Given the description of an element on the screen output the (x, y) to click on. 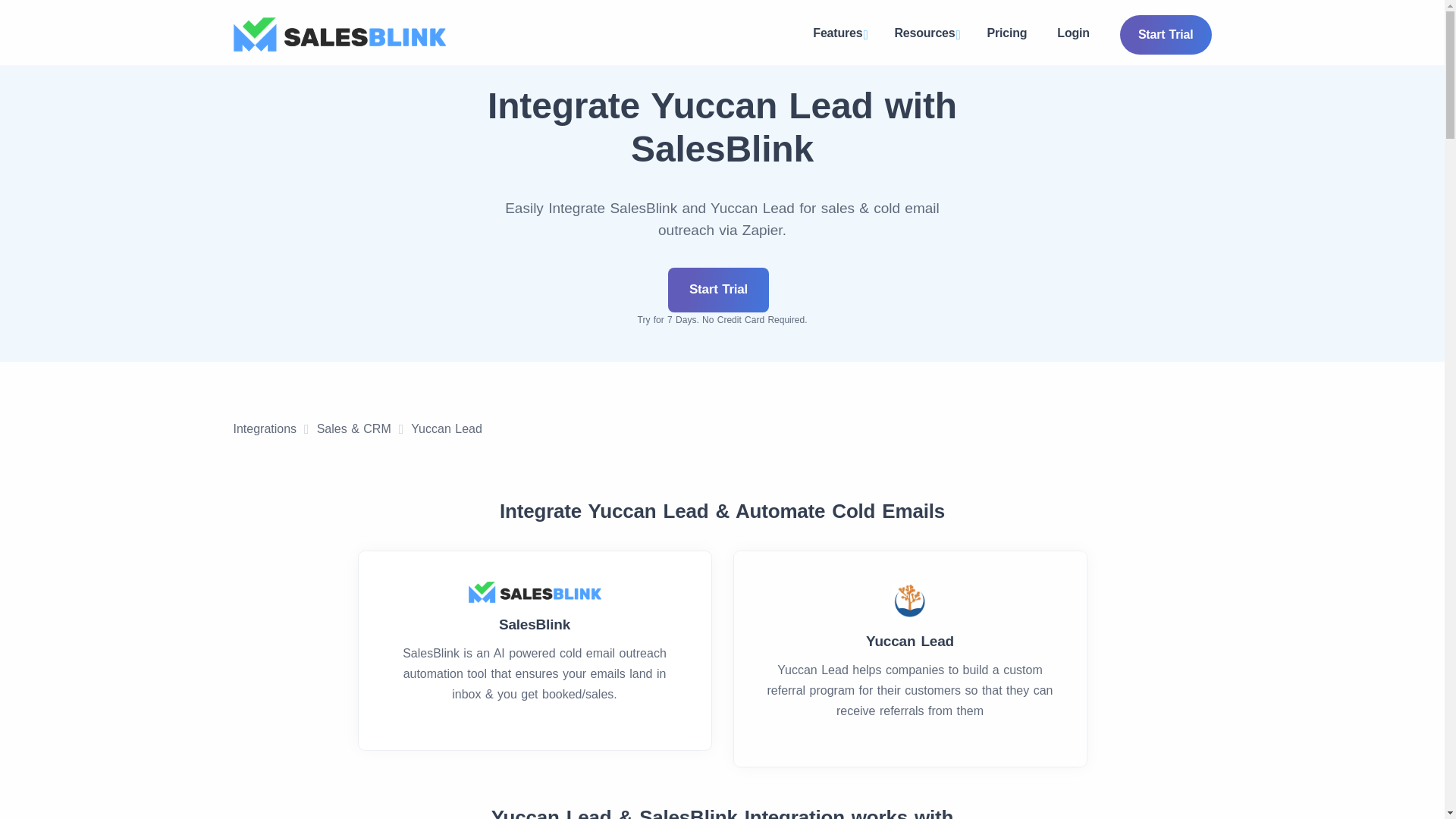
Features (838, 34)
Pricing (1007, 32)
Resources (925, 34)
Login (1073, 32)
Yuccan Lead Logo (909, 600)
Yuccan Lead (445, 429)
SalesBlink Logo (338, 34)
Start Trial (718, 289)
Integrations (264, 429)
SalesBlink Logo (534, 591)
